Given the description of an element on the screen output the (x, y) to click on. 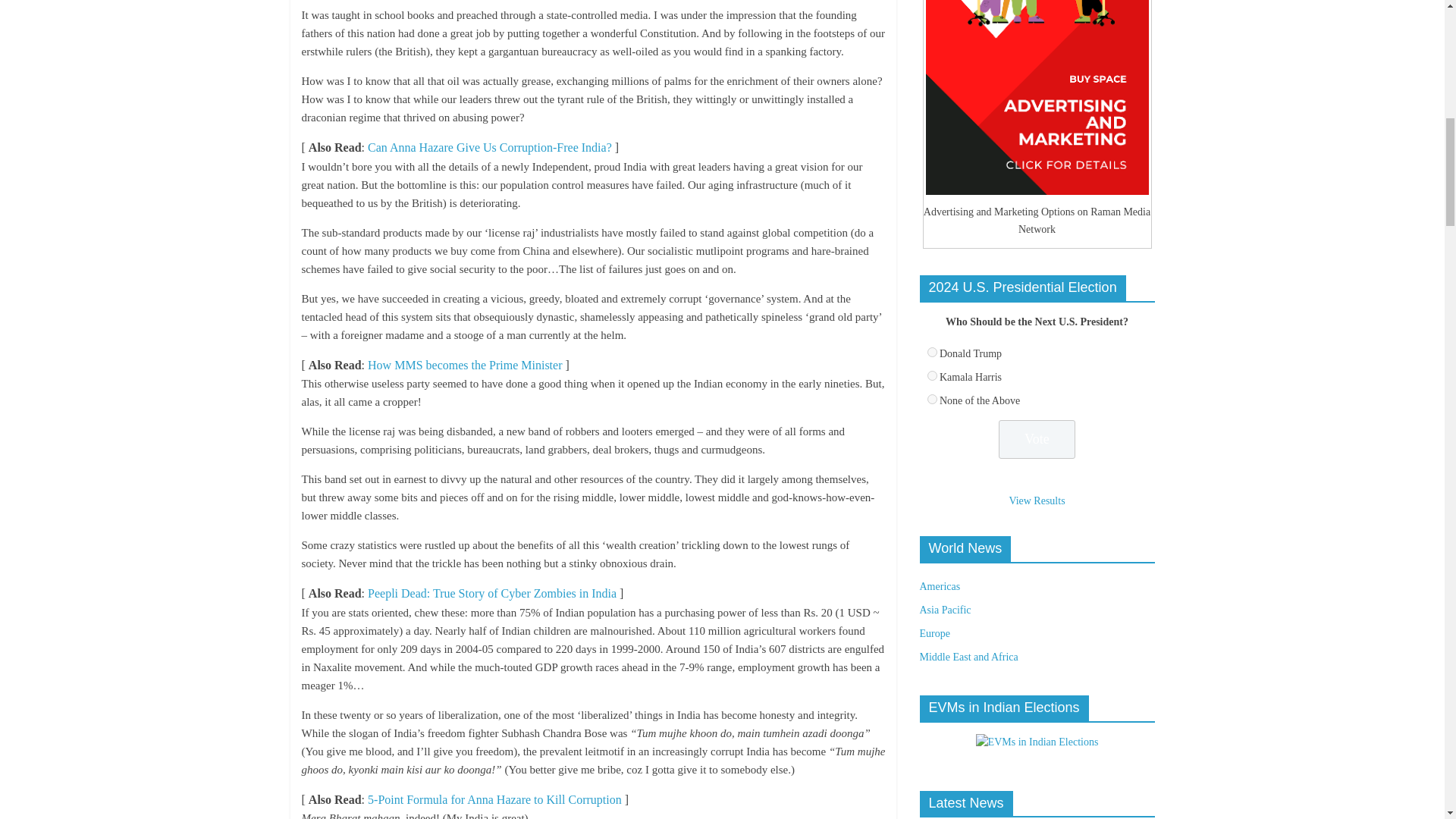
189 (931, 352)
190 (931, 375)
   Vote    (1036, 439)
191 (931, 398)
